Given the description of an element on the screen output the (x, y) to click on. 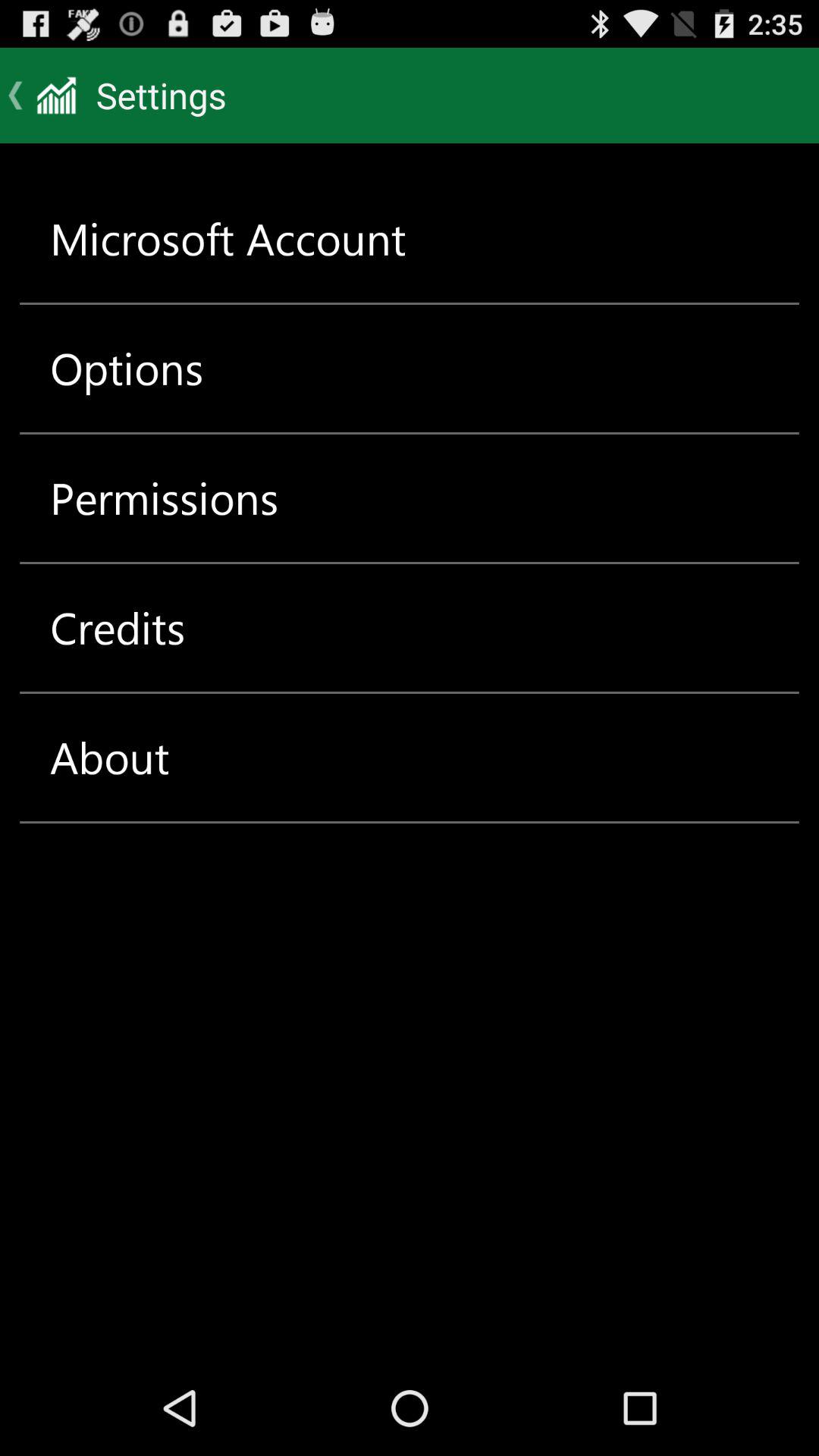
select about (109, 757)
